Given the description of an element on the screen output the (x, y) to click on. 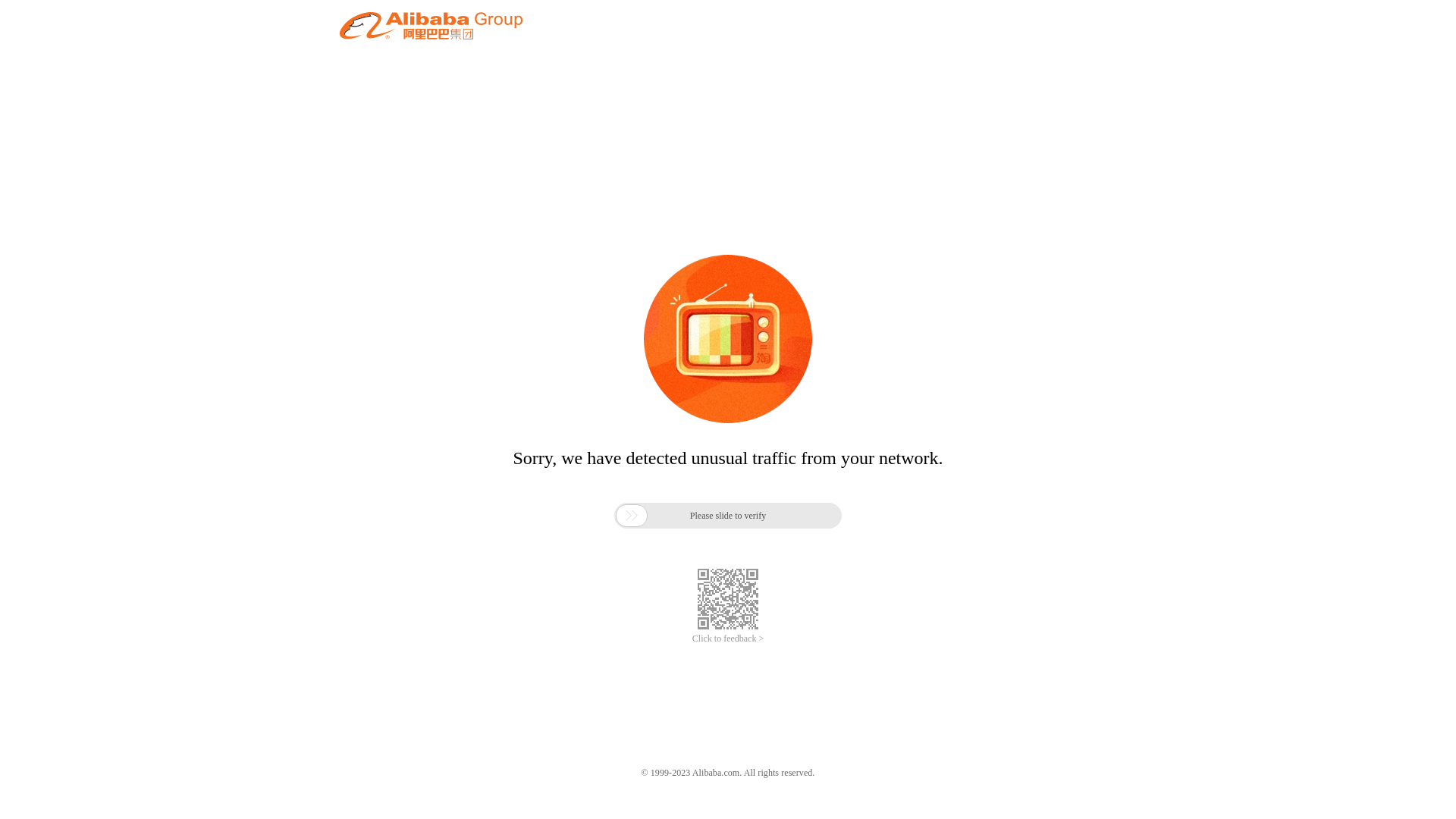
Click to feedback > Element type: text (727, 638)
